Given the description of an element on the screen output the (x, y) to click on. 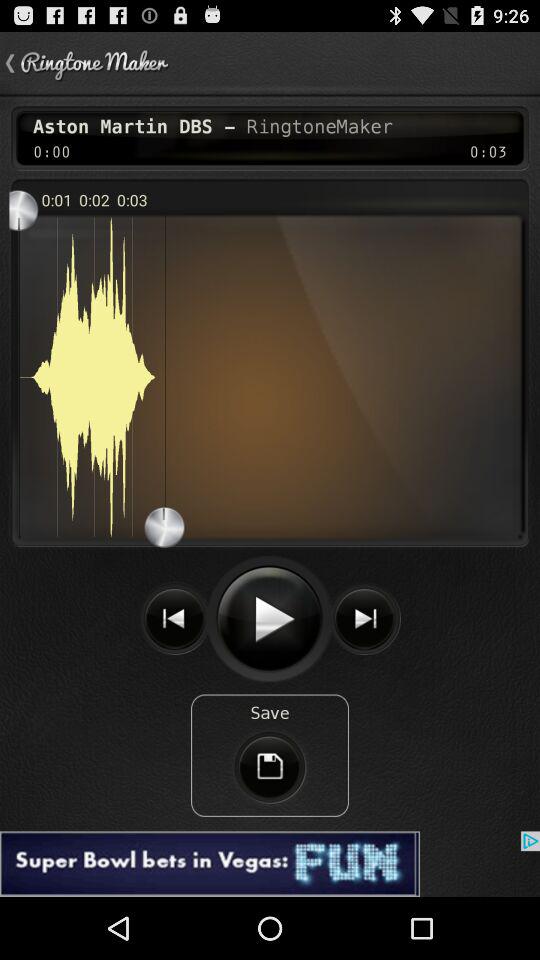
open advertisement (270, 864)
